Given the description of an element on the screen output the (x, y) to click on. 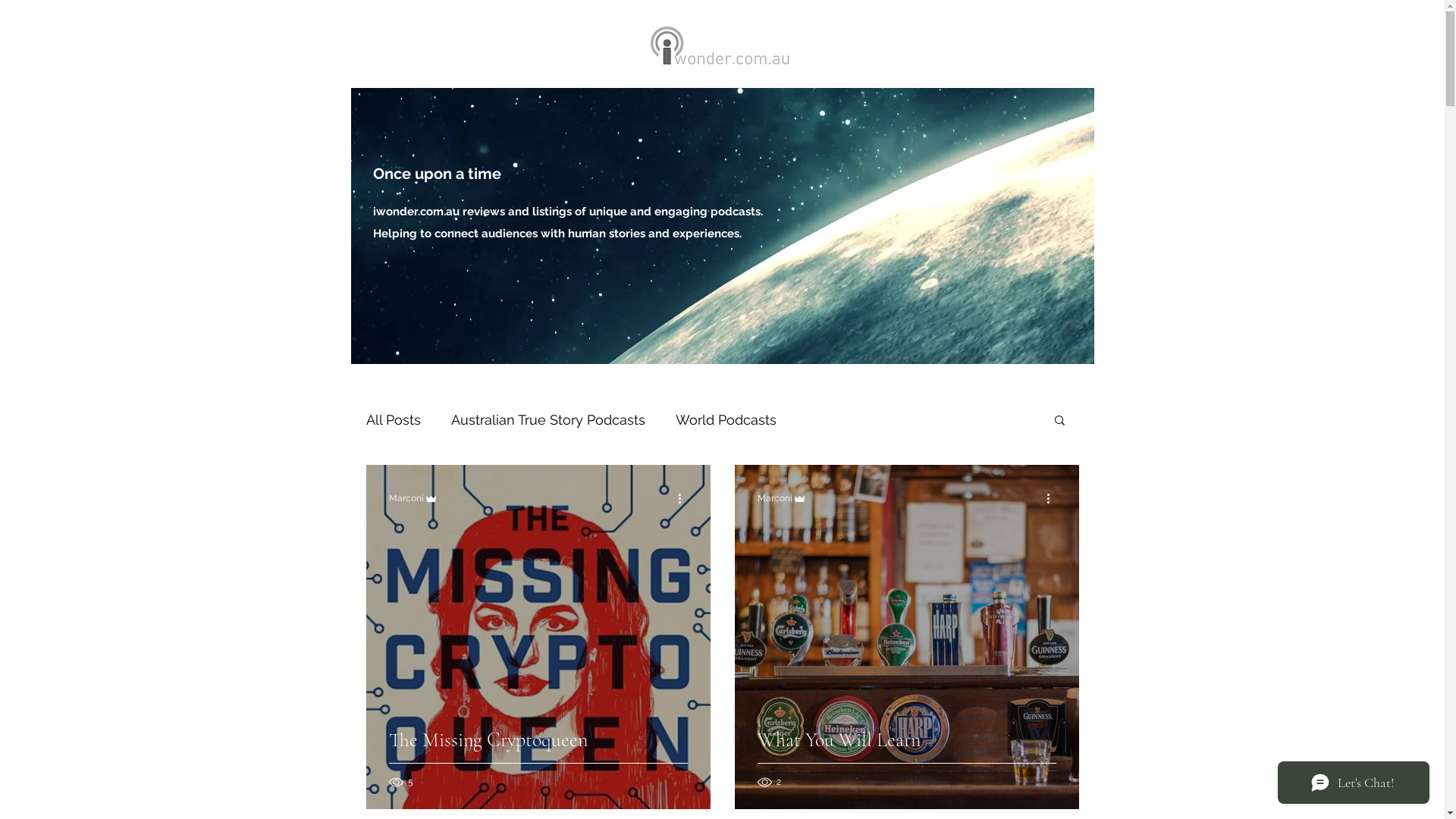
All Posts Element type: text (392, 418)
World Podcasts Element type: text (724, 418)
What You Will Learn Element type: text (905, 757)
The Missing Cryptoqueen Element type: text (537, 757)
Australian True Story Podcasts Element type: text (547, 418)
